Given the description of an element on the screen output the (x, y) to click on. 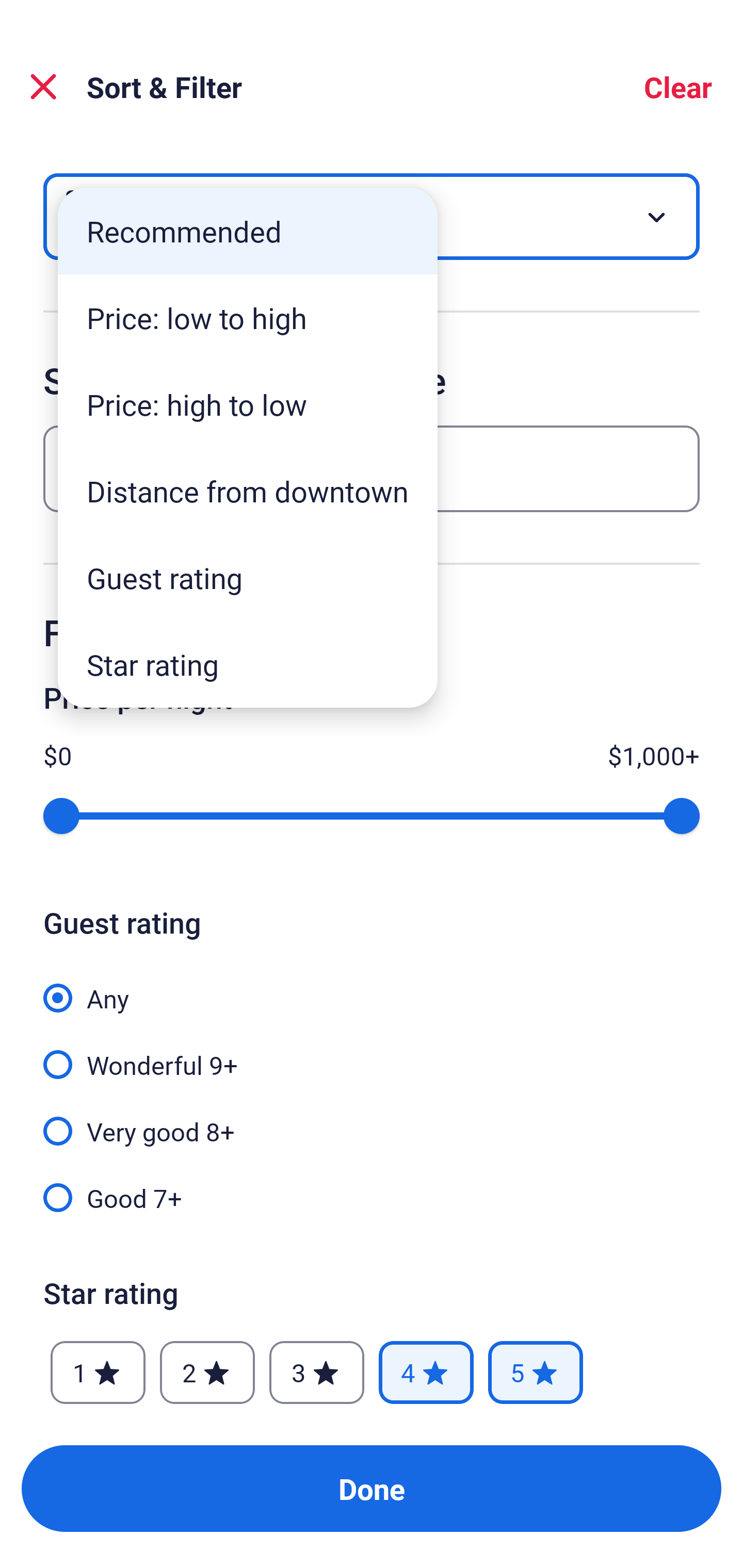
Price: low to high (247, 317)
Price: high to low (247, 404)
Distance from downtown (247, 491)
Guest rating (247, 577)
Star rating (247, 663)
